Given the description of an element on the screen output the (x, y) to click on. 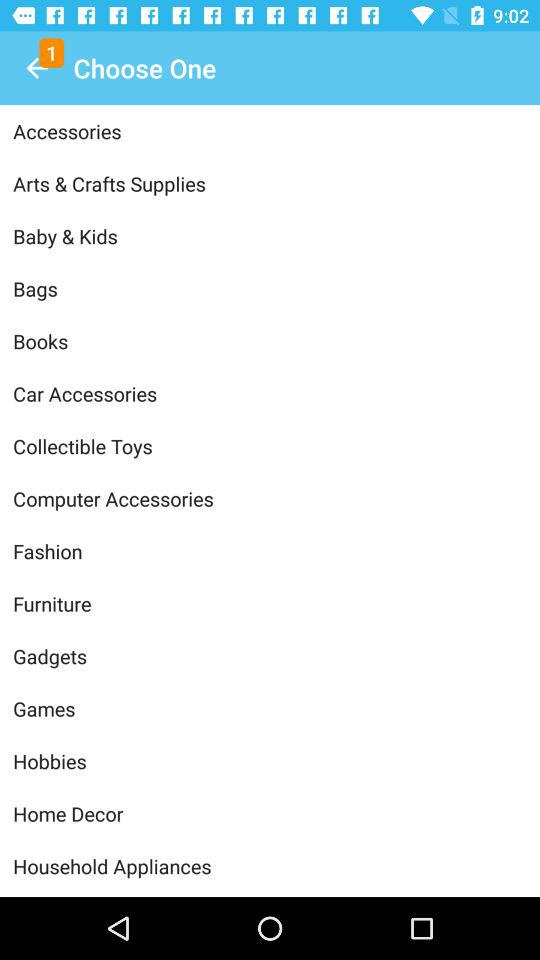
open icon above accessories (36, 68)
